Given the description of an element on the screen output the (x, y) to click on. 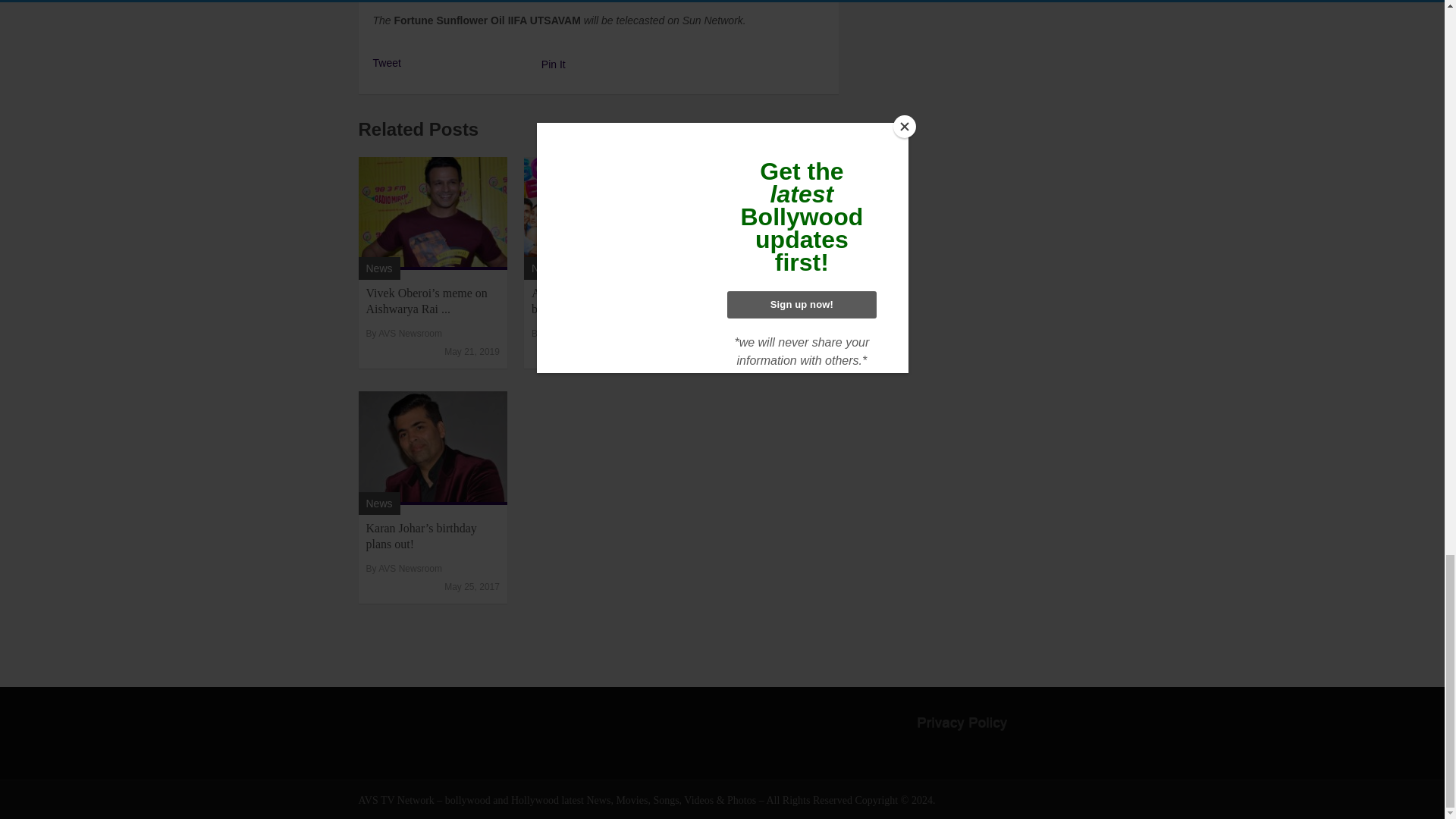
News (378, 268)
News (544, 268)
AVS Newsroom (576, 333)
Posts by AVS Newsroom (410, 333)
View all posts in News (544, 268)
Karisma-Sunjay take son out together for ... (758, 300)
Akshay Kumar brings the biggest goof ... (593, 300)
AVS Newsroom (741, 333)
Tweet (386, 62)
Posts by AVS Newsroom (741, 333)
News (710, 268)
Pin It (553, 64)
Akshay Kumar brings the biggest goof up of the year (593, 300)
Posts by AVS Newsroom (576, 333)
News (378, 503)
